Given the description of an element on the screen output the (x, y) to click on. 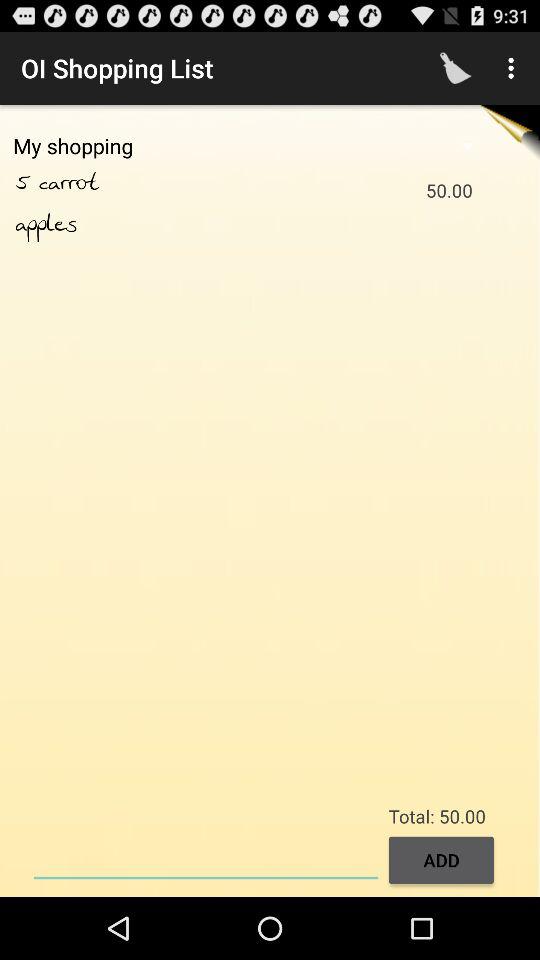
turn on app next to the oi shopping list item (455, 67)
